Given the description of an element on the screen output the (x, y) to click on. 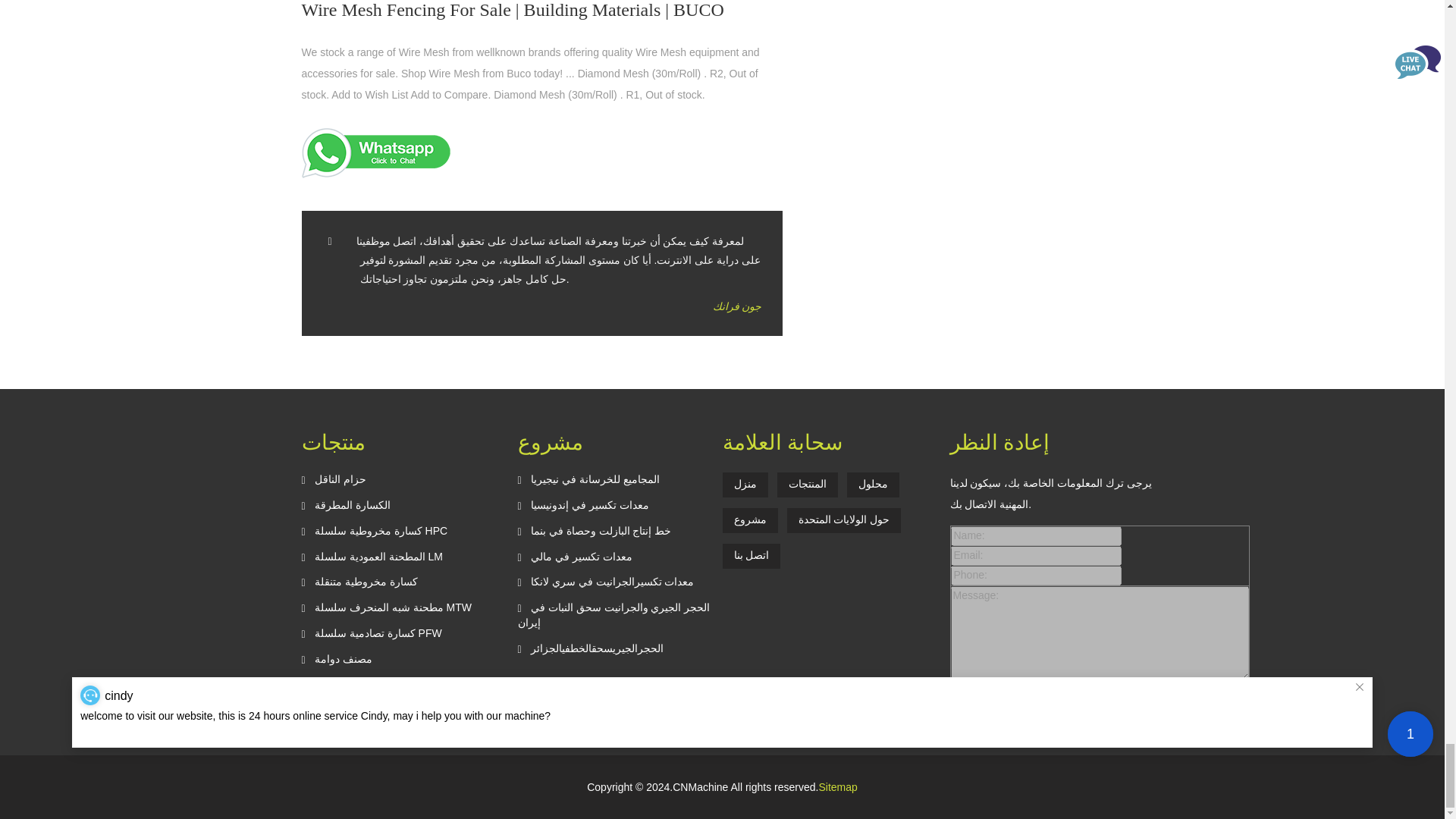
Phone: (1035, 575)
Email: (1035, 555)
Name: (1035, 536)
Send Message (995, 698)
